Given the description of an element on the screen output the (x, y) to click on. 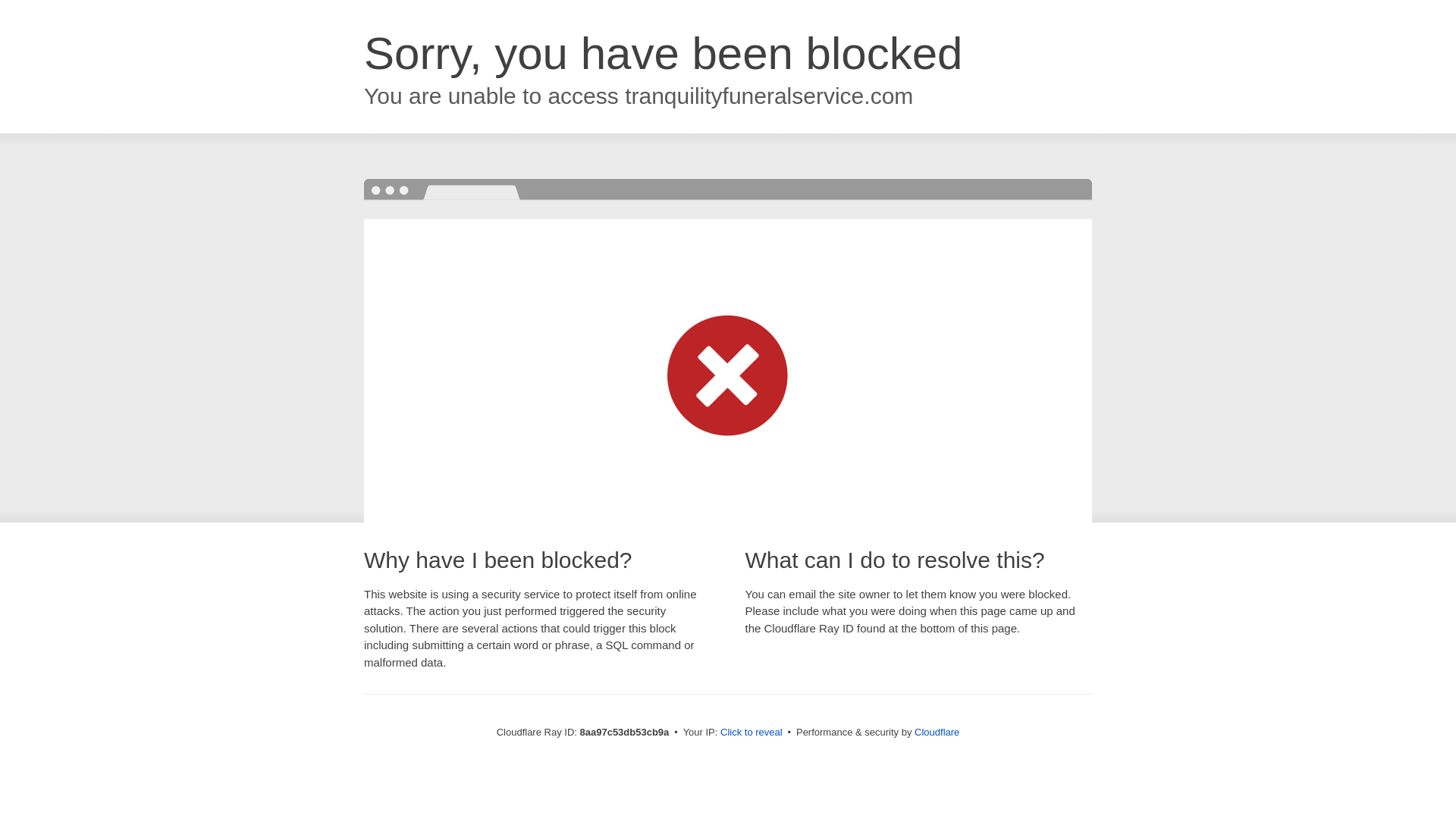
Click to reveal (751, 732)
Cloudflare (936, 731)
